Given the description of an element on the screen output the (x, y) to click on. 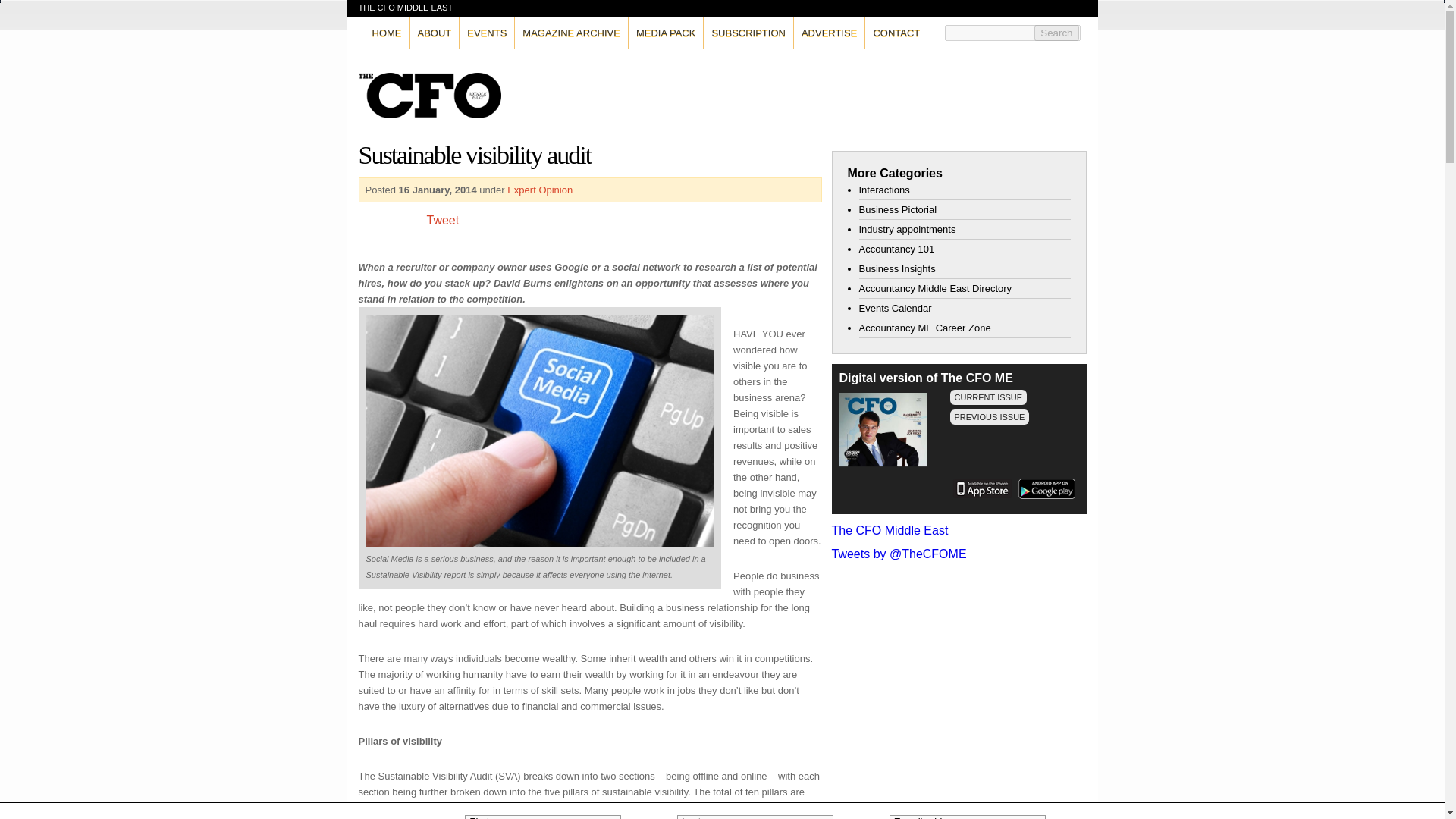
Accountancy 101 (896, 248)
MEDIA PACK (665, 32)
Events Calendar (895, 307)
Interactions (883, 189)
Expert Opinion (539, 189)
Business Pictorial (897, 209)
Accountancy Middle East Directory (935, 288)
PREVIOUS ISSUE (989, 417)
Industry appointments (907, 229)
ABOUT (433, 32)
Search (1055, 32)
HOME (386, 32)
ADVERTISE (829, 32)
Accountancy ME Career Zone (924, 327)
MAGAZINE ARCHIVE (571, 32)
